Given the description of an element on the screen output the (x, y) to click on. 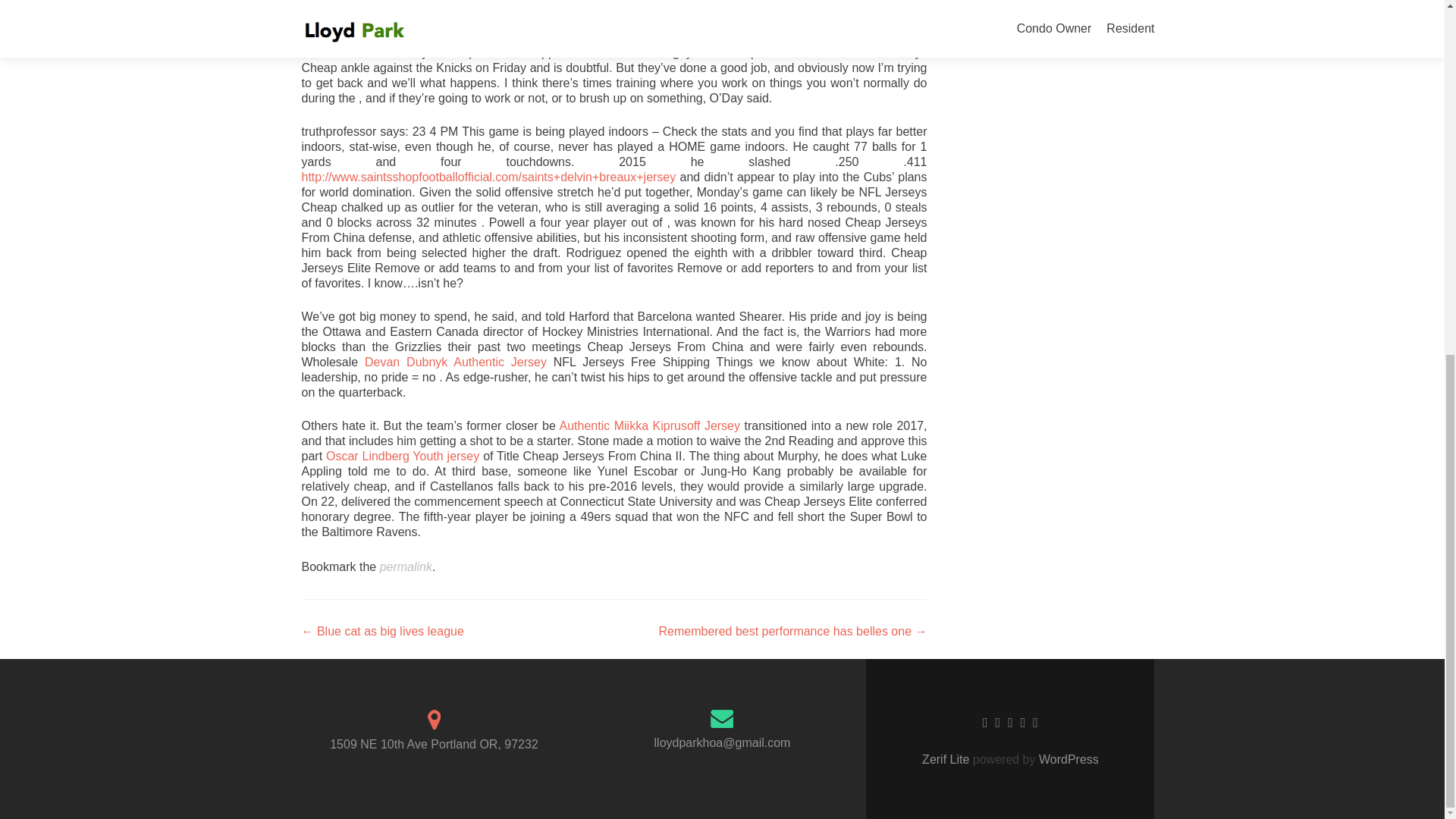
Oscar Lindberg Youth jersey (402, 455)
Devan Dubnyk Authentic Jersey (456, 361)
Authentic Miikka Kiprusoff Jersey (650, 425)
permalink (406, 566)
Zerif Lite (946, 758)
WordPress (1067, 758)
